Given the description of an element on the screen output the (x, y) to click on. 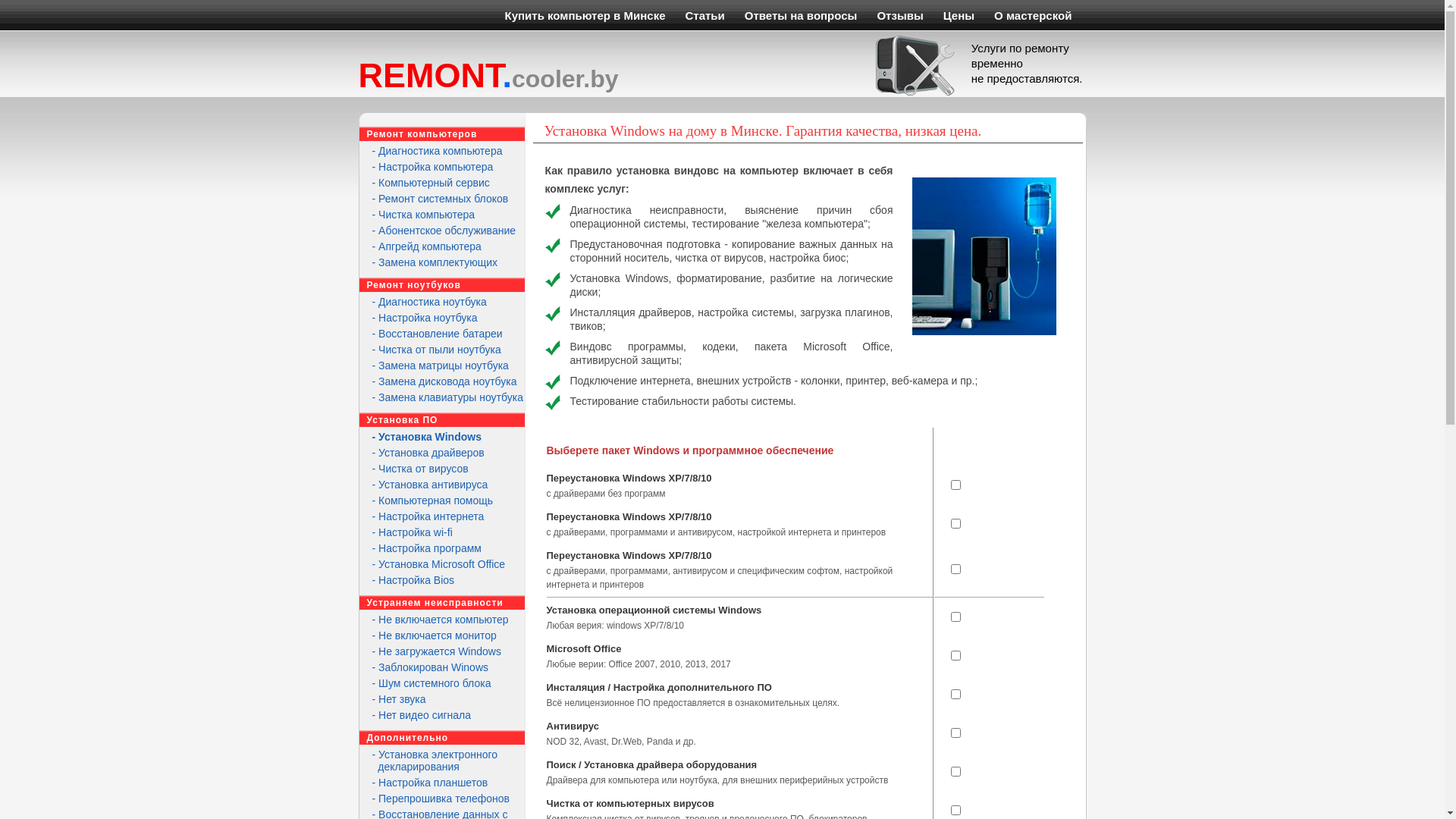
REMONT.cooler.by Element type: text (487, 75)
